Given the description of an element on the screen output the (x, y) to click on. 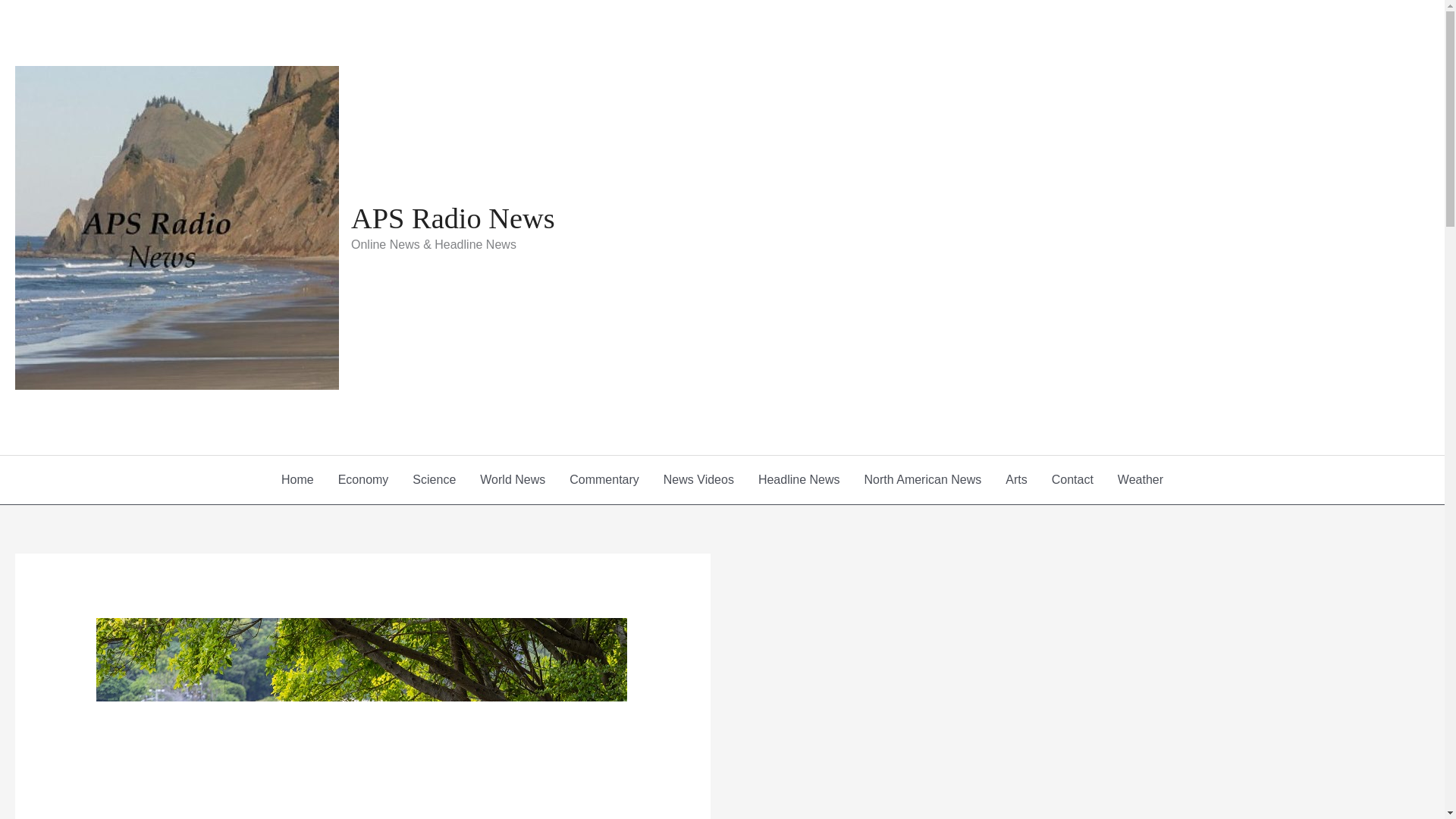
News Videos (697, 479)
Contact (1072, 479)
World News (512, 479)
Headline News (798, 479)
Home (297, 479)
APS Radio News (452, 218)
Economy (363, 479)
Commentary (603, 479)
Science (433, 479)
North American News (922, 479)
Arts (1015, 479)
Weather (1139, 479)
